Given the description of an element on the screen output the (x, y) to click on. 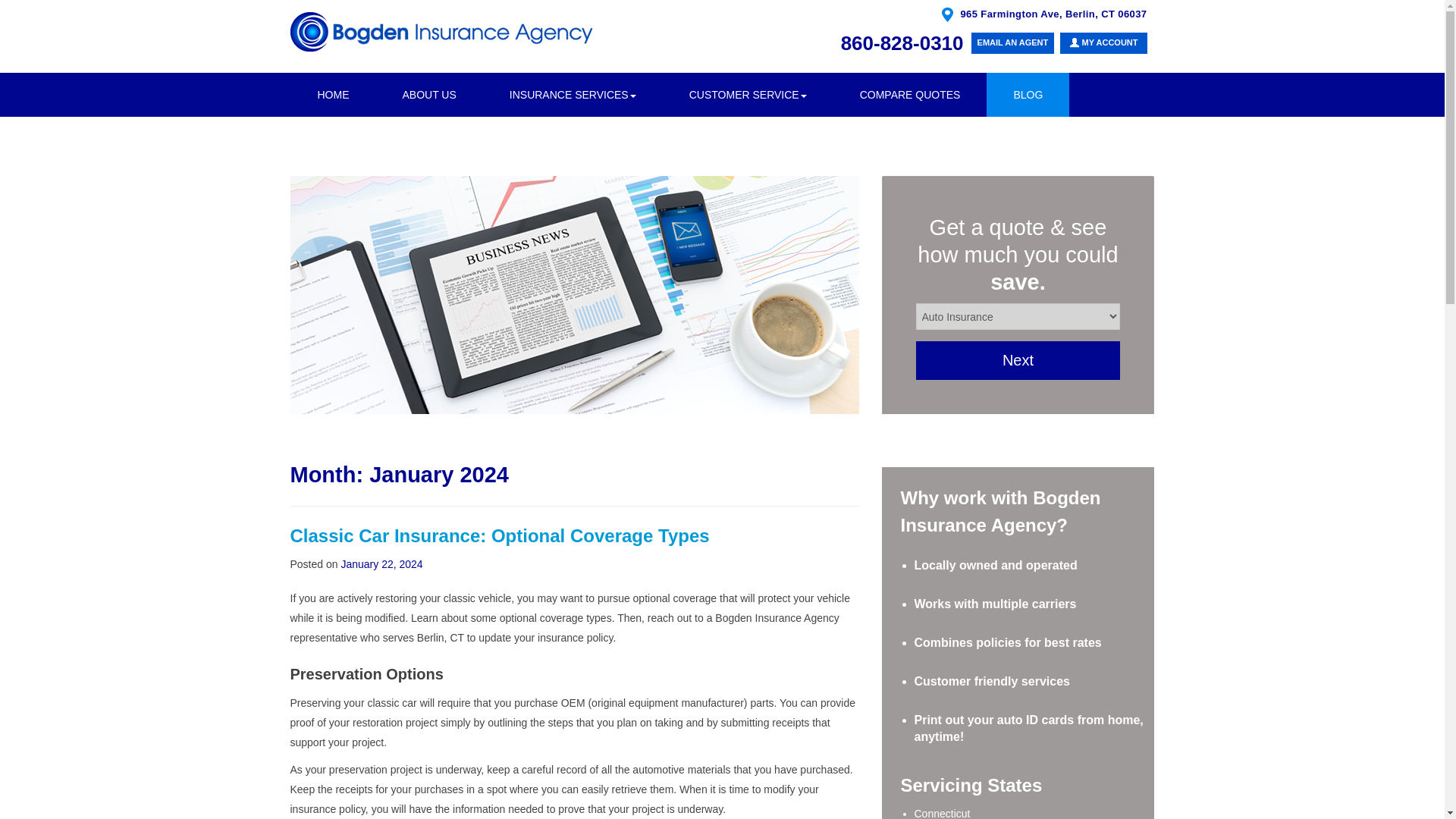
Email an Agent (1012, 43)
INSURANCE SERVICES (572, 94)
CONTACT US (351, 138)
Insurance Services (572, 94)
 MY ACCOUNT (1103, 43)
CUSTOMER SERVICE (747, 94)
My Account (1103, 43)
EMAIL AN AGENT (1012, 43)
About Bogden Insurance Agency (429, 94)
Get directions to Bogden Insurance Agency (1051, 13)
ABOUT US (429, 94)
BLOG (1027, 94)
COMPARE QUOTES (909, 94)
965 Farmington Ave, Berlin, CT 06037 (1051, 13)
HOME (333, 94)
